Given the description of an element on the screen output the (x, y) to click on. 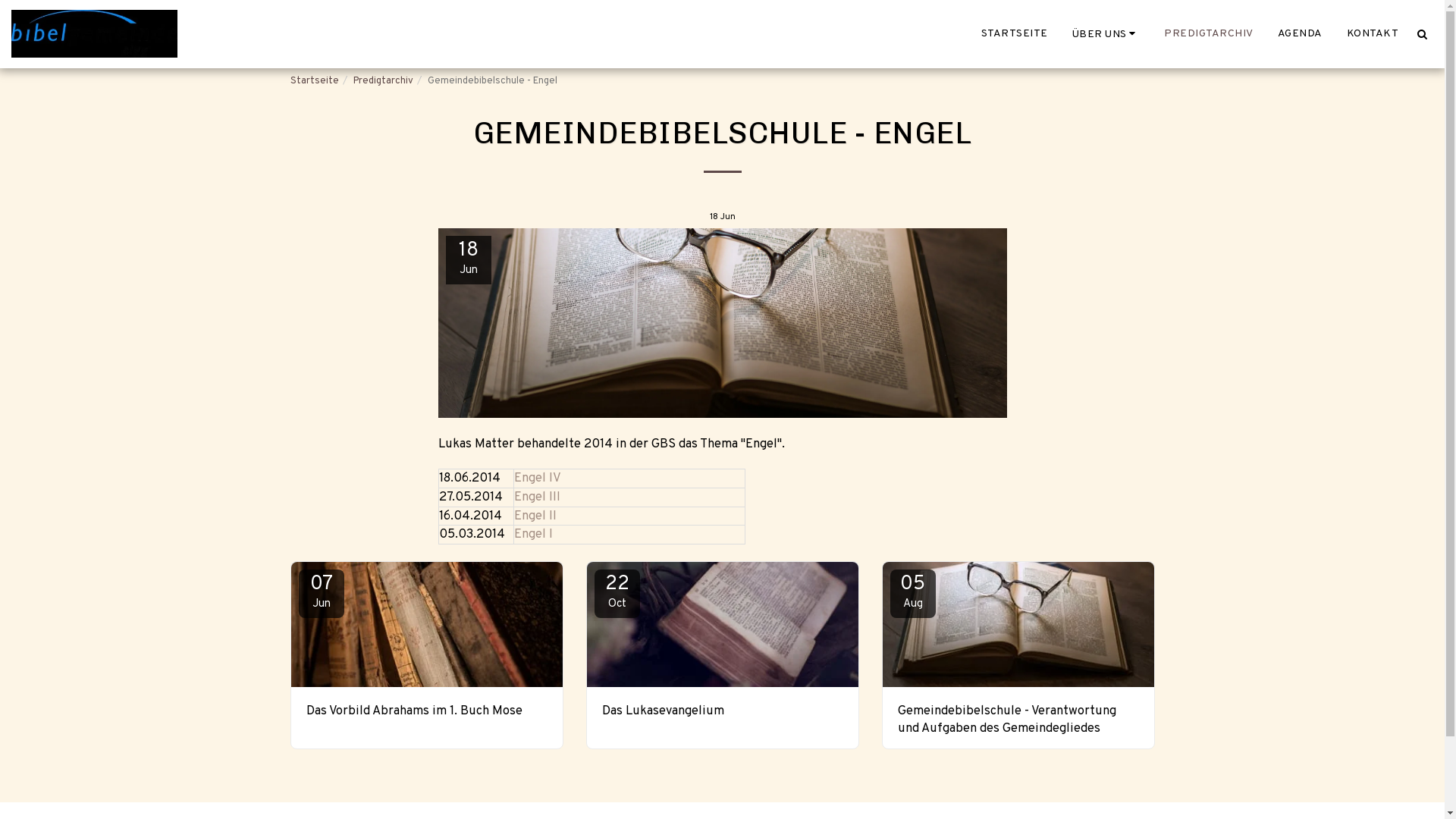
Das Vorbild Abrahams im 1. Buch Mose Element type: text (426, 711)
Das Lukasevangelium Element type: text (722, 711)
Engel II Element type: text (535, 516)
22
Oct Element type: text (617, 593)
05
Aug Element type: text (912, 593)
STARTSEITE Element type: text (1013, 32)
Engel IV Element type: text (537, 478)
  Element type: text (1421, 33)
KONTAKT Element type: text (1371, 32)
Predigtarchiv Element type: text (383, 80)
Engel III Element type: text (537, 497)
Engel I Element type: text (533, 534)
07
Jun Element type: text (321, 593)
PREDIGTARCHIV Element type: text (1208, 32)
Startseite Element type: text (313, 80)
AGENDA Element type: text (1299, 32)
